Given the description of an element on the screen output the (x, y) to click on. 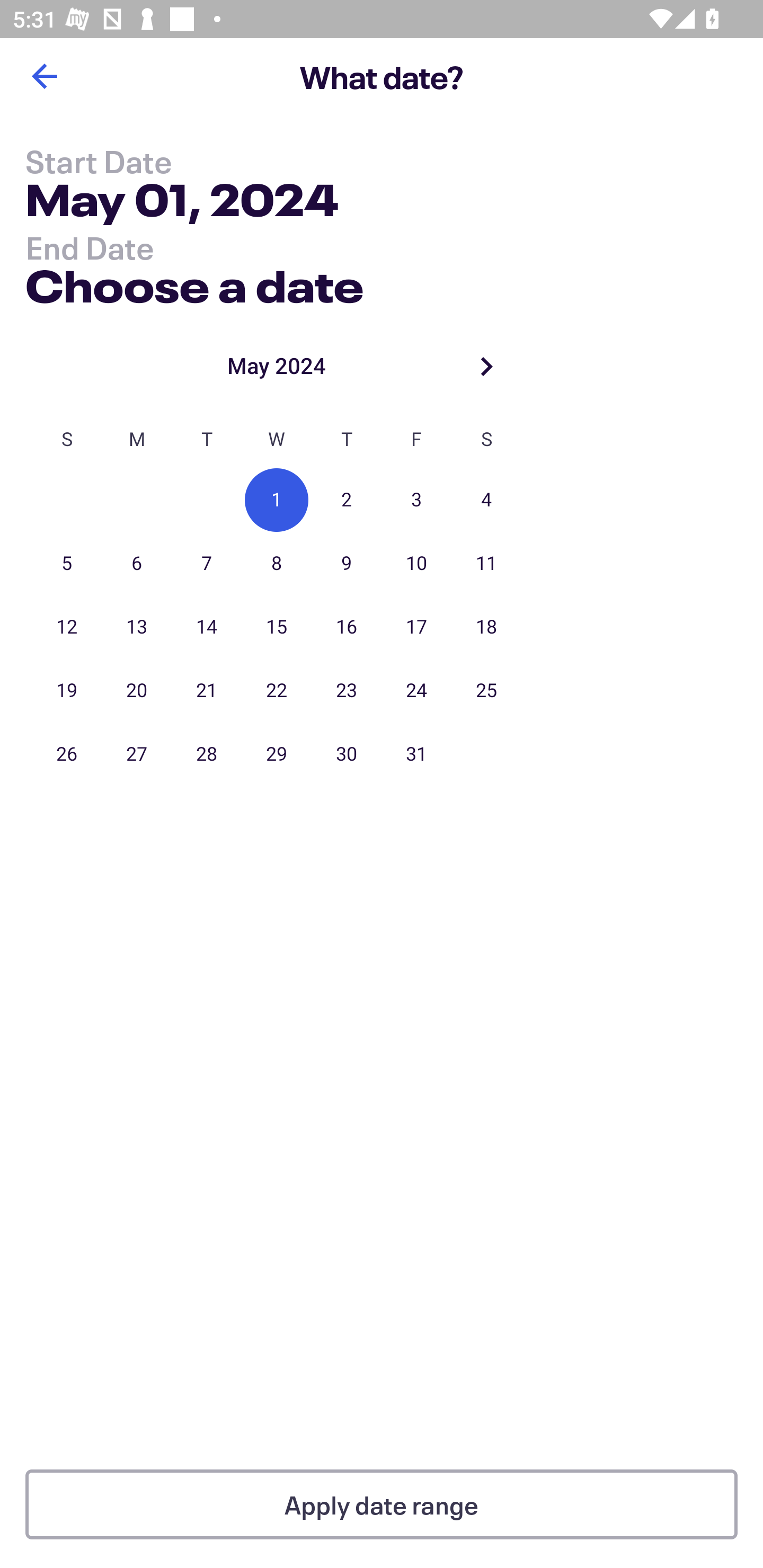
Back button (44, 75)
May 01, 2024 (181, 203)
Choose a date (194, 282)
Next month (486, 365)
1 01 May 2024 (276, 499)
2 02 May 2024 (346, 499)
3 03 May 2024 (416, 499)
4 04 May 2024 (486, 499)
5 05 May 2024 (66, 563)
6 06 May 2024 (136, 563)
7 07 May 2024 (206, 563)
8 08 May 2024 (276, 563)
9 09 May 2024 (346, 563)
10 10 May 2024 (416, 563)
11 11 May 2024 (486, 563)
12 12 May 2024 (66, 626)
13 13 May 2024 (136, 626)
14 14 May 2024 (206, 626)
15 15 May 2024 (276, 626)
16 16 May 2024 (346, 626)
17 17 May 2024 (416, 626)
18 18 May 2024 (486, 626)
19 19 May 2024 (66, 690)
20 20 May 2024 (136, 690)
21 21 May 2024 (206, 690)
22 22 May 2024 (276, 690)
23 23 May 2024 (346, 690)
24 24 May 2024 (416, 690)
25 25 May 2024 (486, 690)
26 26 May 2024 (66, 753)
27 27 May 2024 (136, 753)
28 28 May 2024 (206, 753)
29 29 May 2024 (276, 753)
30 30 May 2024 (346, 753)
31 31 May 2024 (416, 753)
Apply date range (381, 1504)
